Given the description of an element on the screen output the (x, y) to click on. 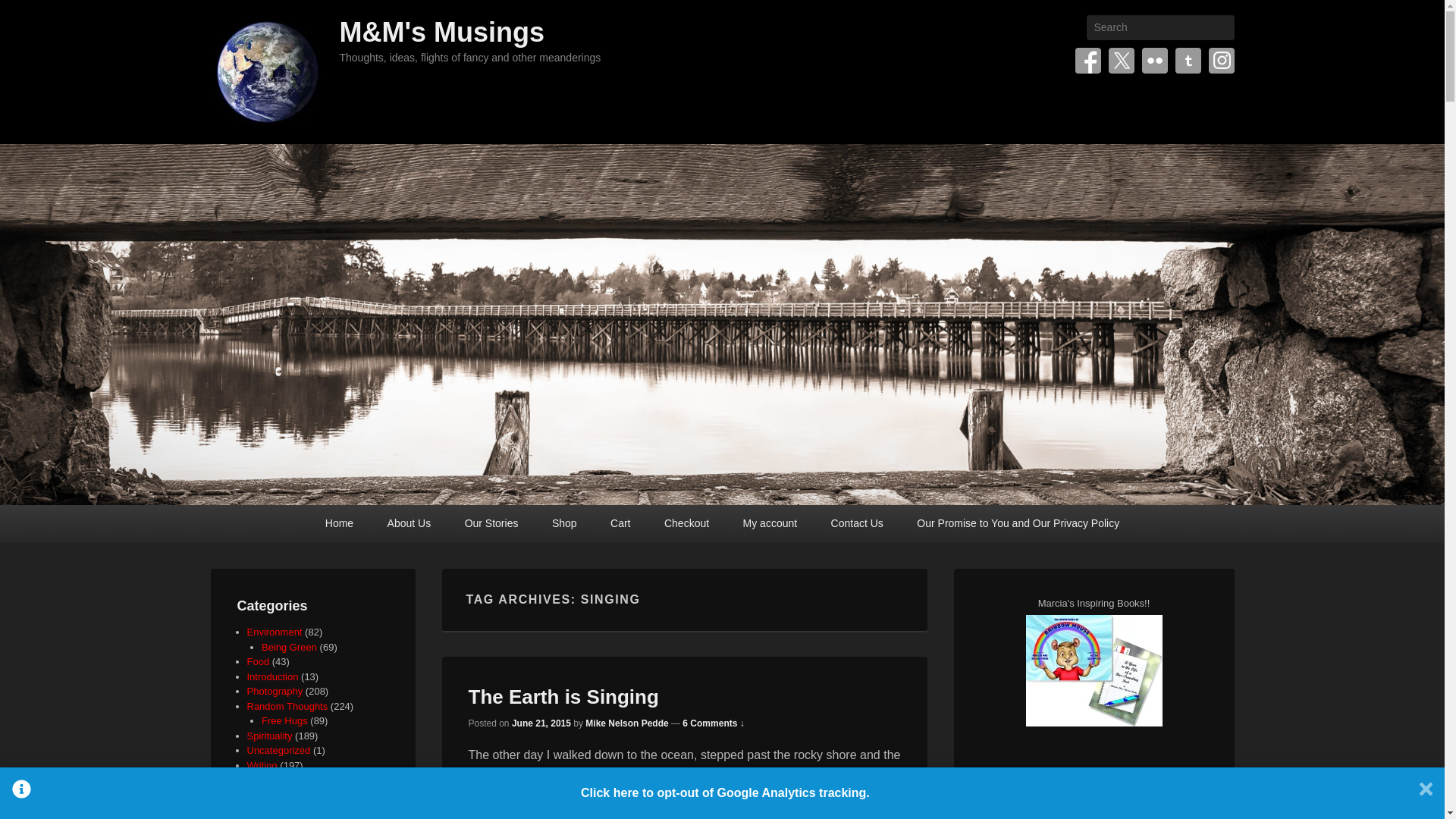
Search (24, 14)
Flickr (1154, 60)
Shop (564, 523)
June 21, 2015 (541, 723)
Twitter (1121, 60)
Permalink to The Earth is Singing (563, 696)
Tumblr (1187, 60)
Facebook (1087, 60)
The Earth is Singing (563, 696)
